Given the description of an element on the screen output the (x, y) to click on. 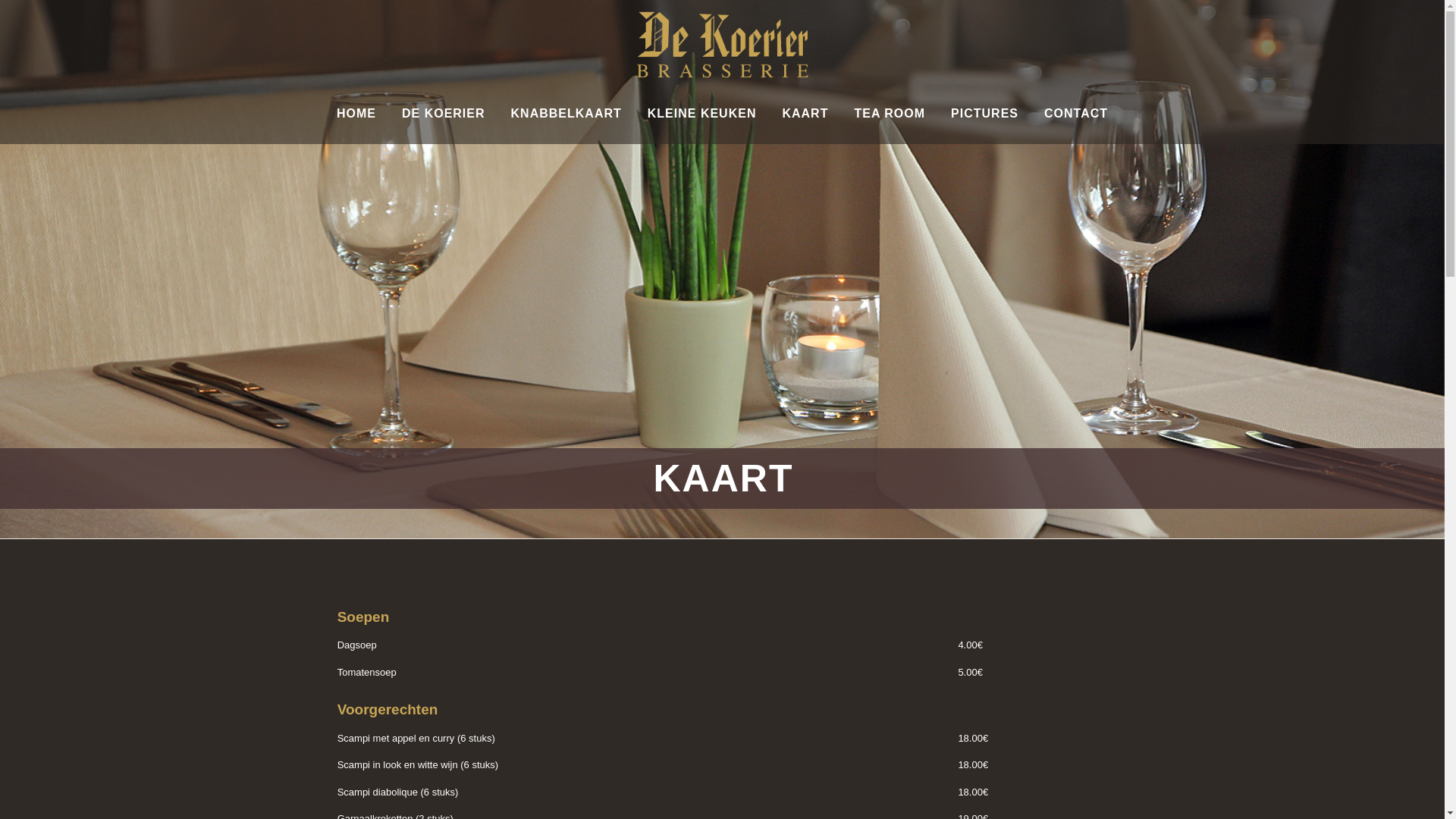
KNABBELKAART Element type: text (566, 113)
PICTURES Element type: text (984, 113)
DE KOERIER Element type: text (443, 113)
HOME Element type: text (356, 113)
KLEINE KEUKEN Element type: text (701, 113)
TEA ROOM Element type: text (889, 113)
CONTACT Element type: text (1075, 113)
KAART Element type: text (804, 113)
